Given the description of an element on the screen output the (x, y) to click on. 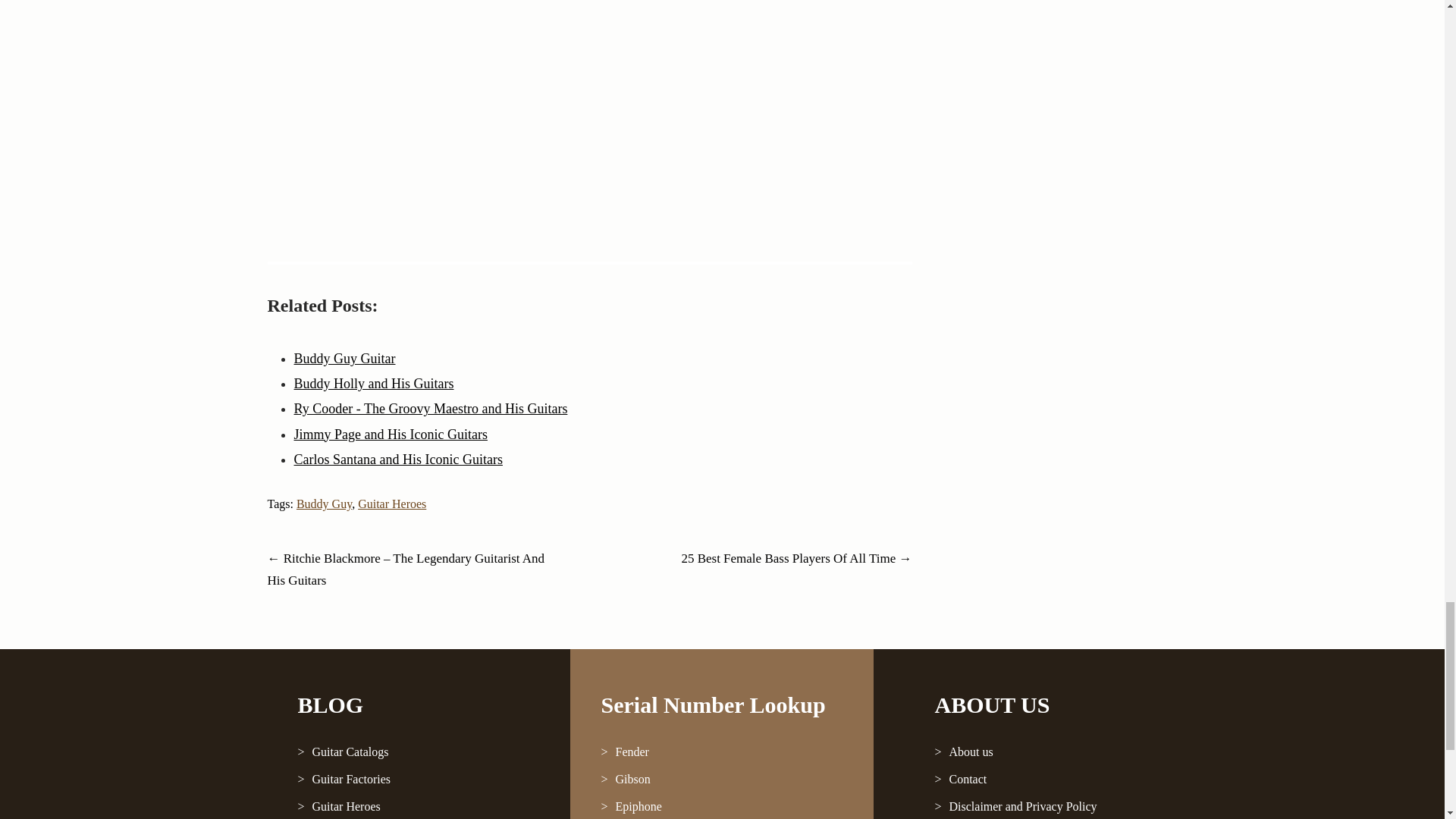
Jimmy Page and His Iconic Guitars (390, 434)
Carlos Santana and His Iconic Guitars (398, 459)
Guitar Heroes (418, 806)
Buddy Guy Guitar (345, 358)
Guitar Heroes (392, 503)
Guitar Factories (418, 779)
Guitar Catalogs (418, 751)
Buddy Guy (324, 503)
Ry Cooder - The Groovy Maestro and His Guitars (430, 408)
Buddy Holly and His Guitars (374, 383)
